Given the description of an element on the screen output the (x, y) to click on. 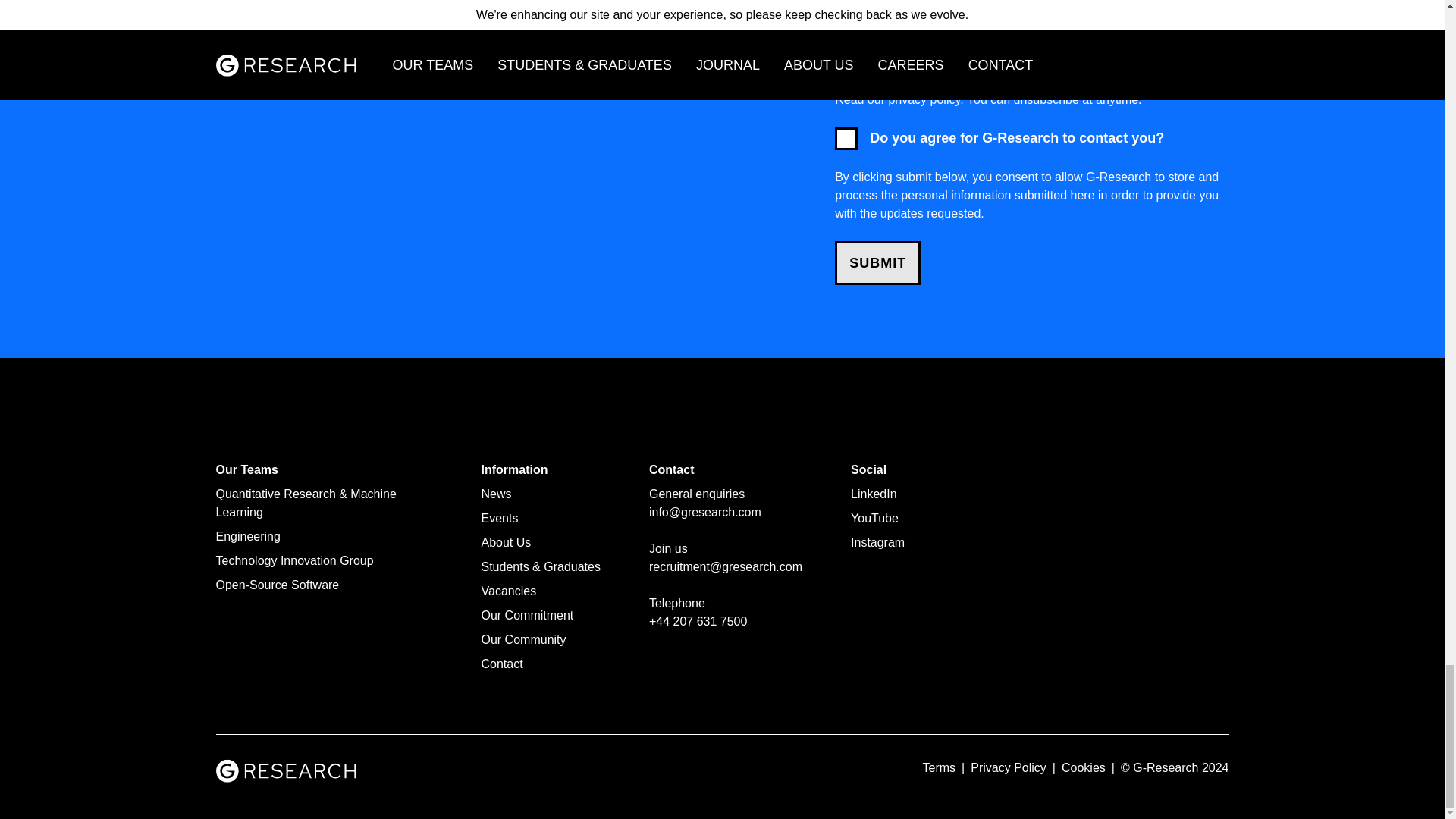
Engineering (247, 535)
About Us (505, 542)
Submit (877, 262)
Technology Innovation Group (293, 560)
Submit (877, 262)
News (495, 493)
privacy policy (923, 99)
Events (499, 517)
Open-Source Software (277, 584)
